Given the description of an element on the screen output the (x, y) to click on. 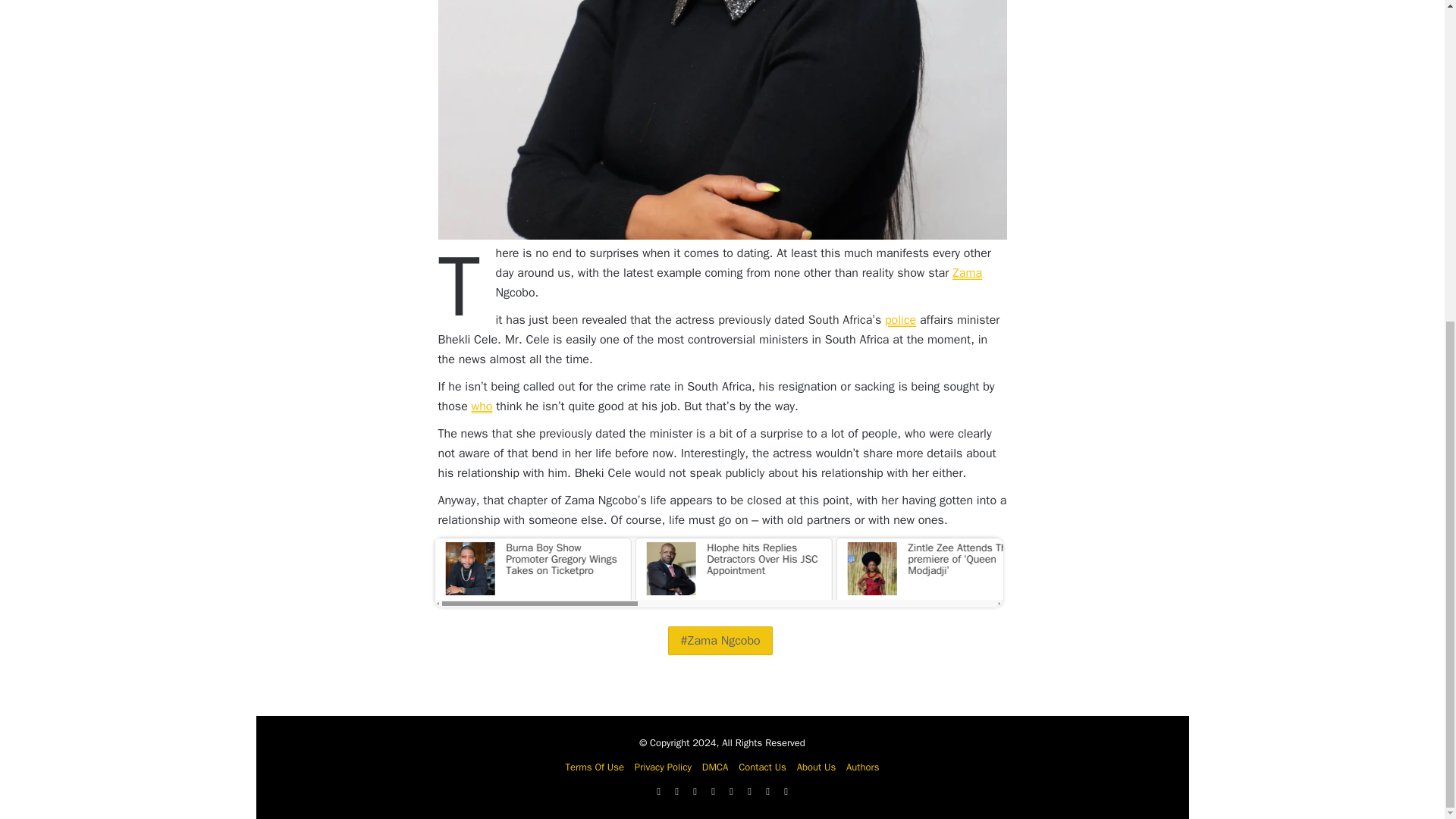
Boity Turns Heads With Her Beauty And Body 5 (1075, 568)
Boity Turns Heads With Her Beauty and Body (1132, 566)
Burna Boy Show Promoter Gregory Wings Takes On Ticketpro 2 (471, 568)
Mohale Motaung'S Non-Existent Company Received R75K 6 (1276, 568)
Zintle Zee Attends The Premiere Of 'Queen Modjadji' 4 (874, 568)
police (900, 319)
who (482, 406)
Zama (966, 272)
Hlophe hits Replies Detractors Over His JSC Appointment (729, 566)
Hlophe Hits Replies Detractors Over His Jsc Appointment 3 (673, 568)
Burna Boy Show Promoter Gregory Wings Takes on Ticketpro (528, 566)
